Given the description of an element on the screen output the (x, y) to click on. 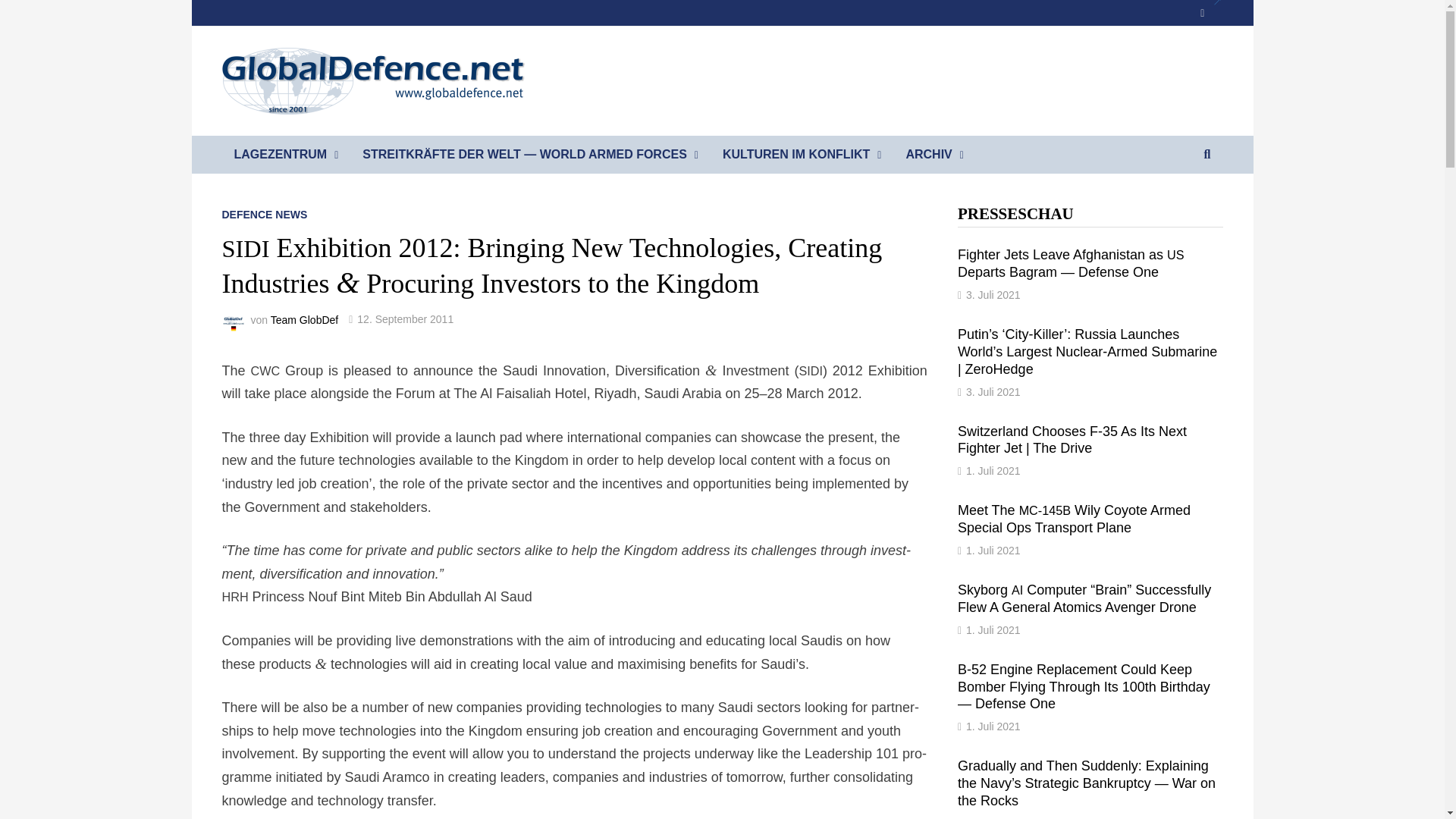
ARCHIV (934, 154)
LAGEZENTRUM (285, 154)
RSS (1209, 11)
KULTUREN IM KONFLIKT (801, 154)
